Given the description of an element on the screen output the (x, y) to click on. 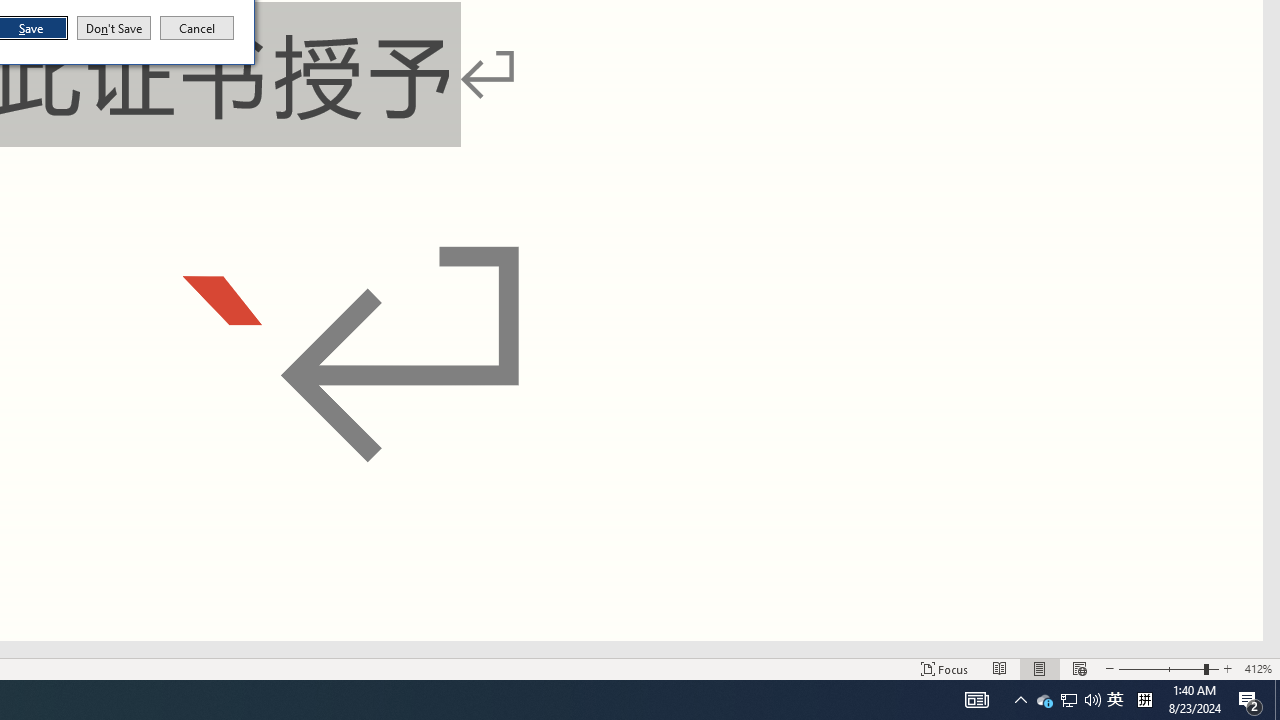
Read Mode (1115, 699)
Show desktop (1000, 668)
Zoom In (1277, 699)
Q2790: 100% (1227, 668)
Cancel (1092, 699)
Web Layout (197, 27)
Zoom Out (1079, 668)
Print Layout (1161, 668)
Zoom (1069, 699)
Focus  (1039, 668)
Notification Chevron (1168, 668)
AutomationID: 4105 (944, 668)
Action Center, 2 new notifications (1020, 699)
